Given the description of an element on the screen output the (x, y) to click on. 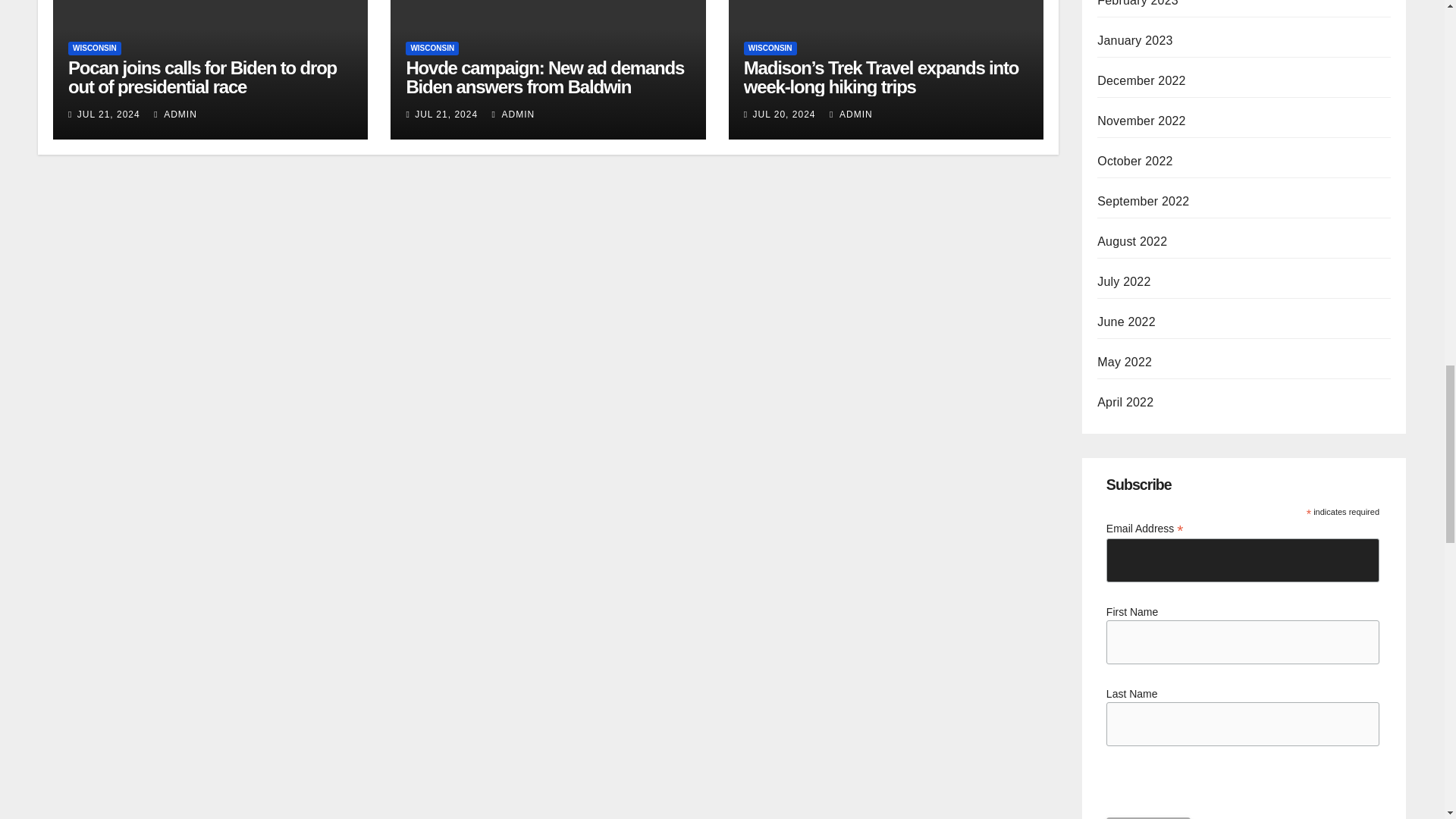
Subscribe (1148, 818)
